Given the description of an element on the screen output the (x, y) to click on. 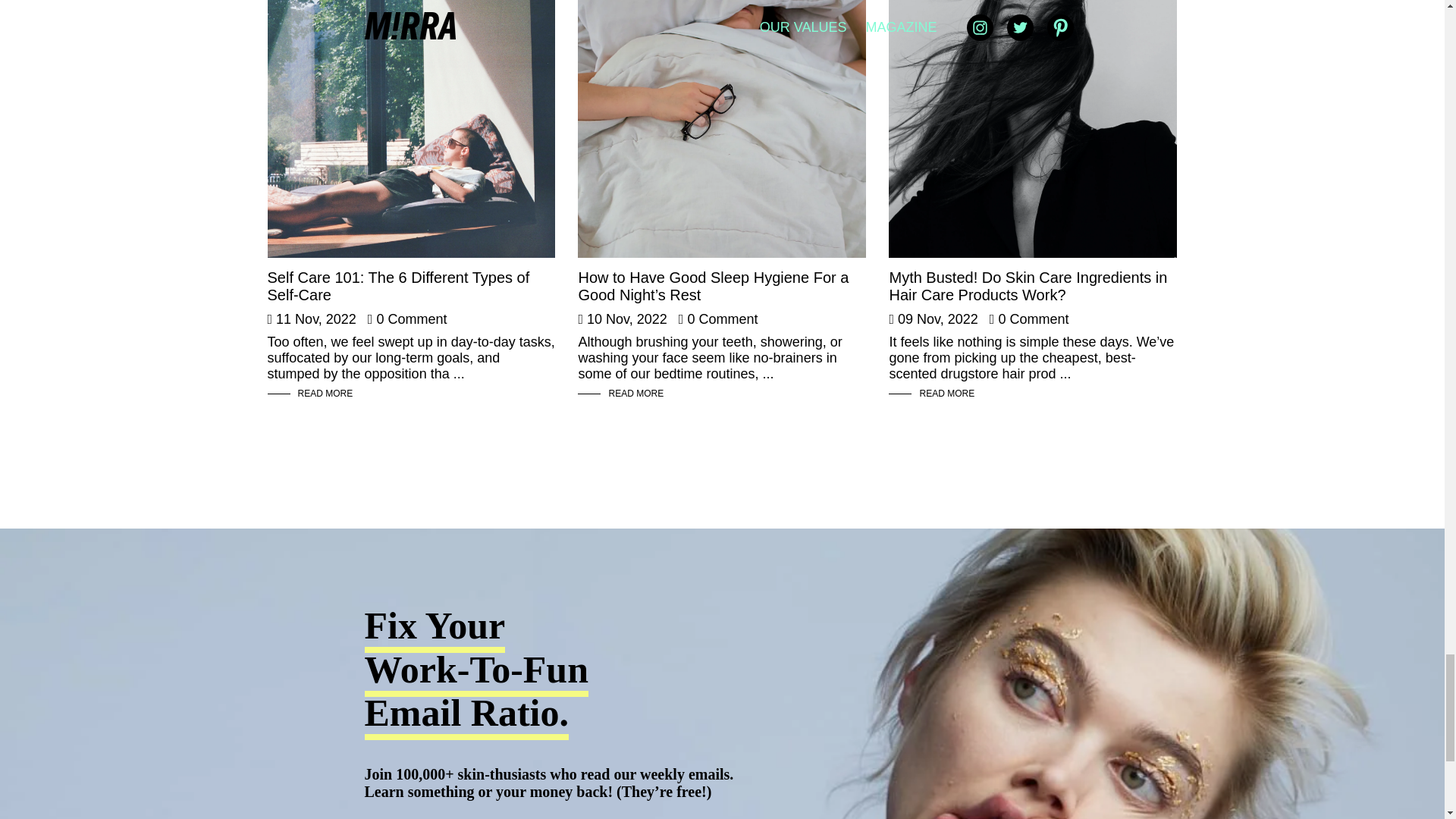
Self Care 101: The 6 Different Types of Self-Care (397, 286)
Self Care 101: The 6 Different Types of Self-Care (410, 128)
READ MORE (324, 393)
